Given the description of an element on the screen output the (x, y) to click on. 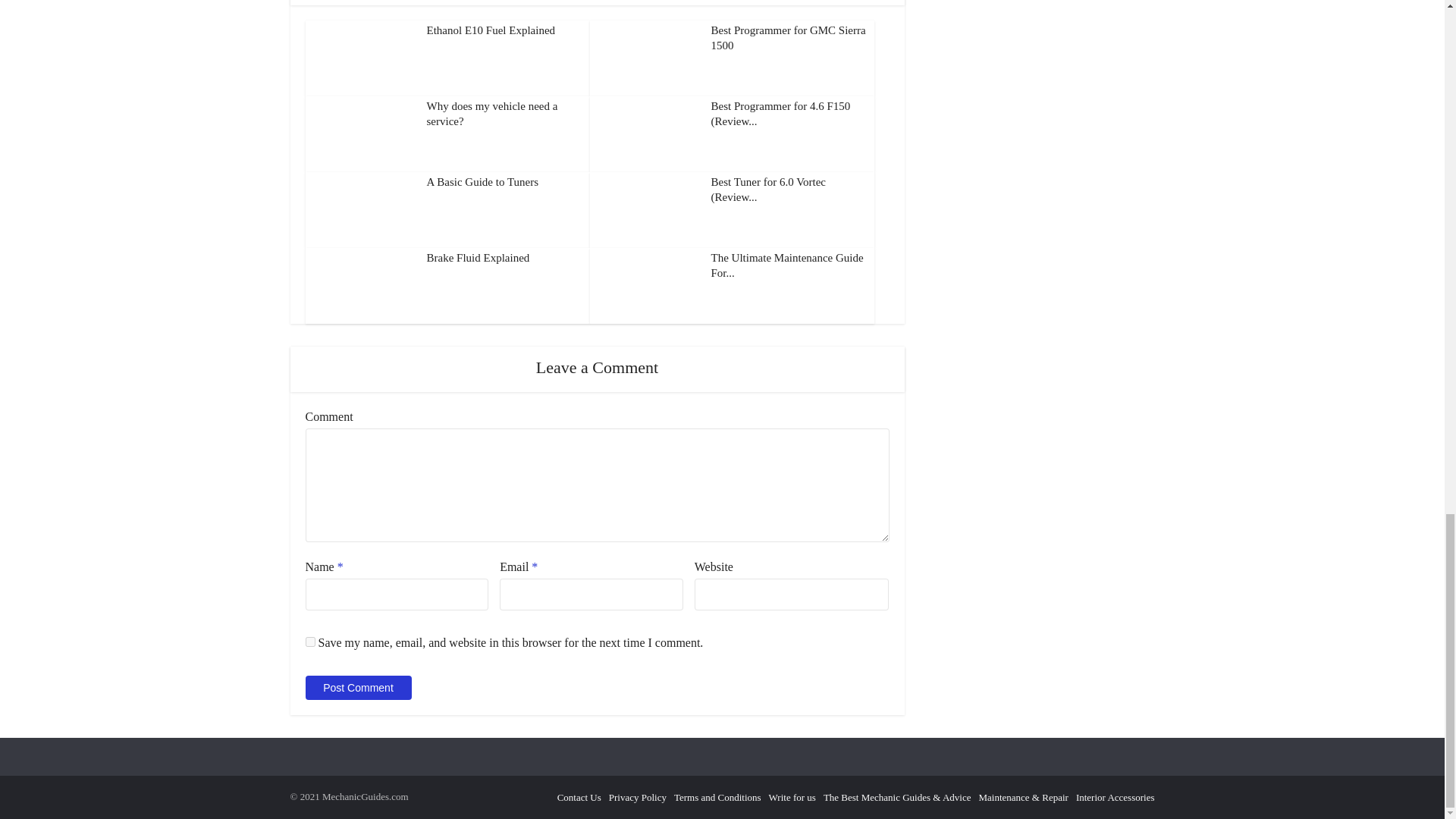
Ethanol E10 Fuel Explained (490, 30)
Brake Fluid Explained (477, 257)
yes (309, 642)
Best Programmer for GMC Sierra 1500 (788, 37)
Why does my vehicle need a service? (491, 113)
A Basic Guide to Tuners (482, 182)
Post Comment (357, 687)
